Given the description of an element on the screen output the (x, y) to click on. 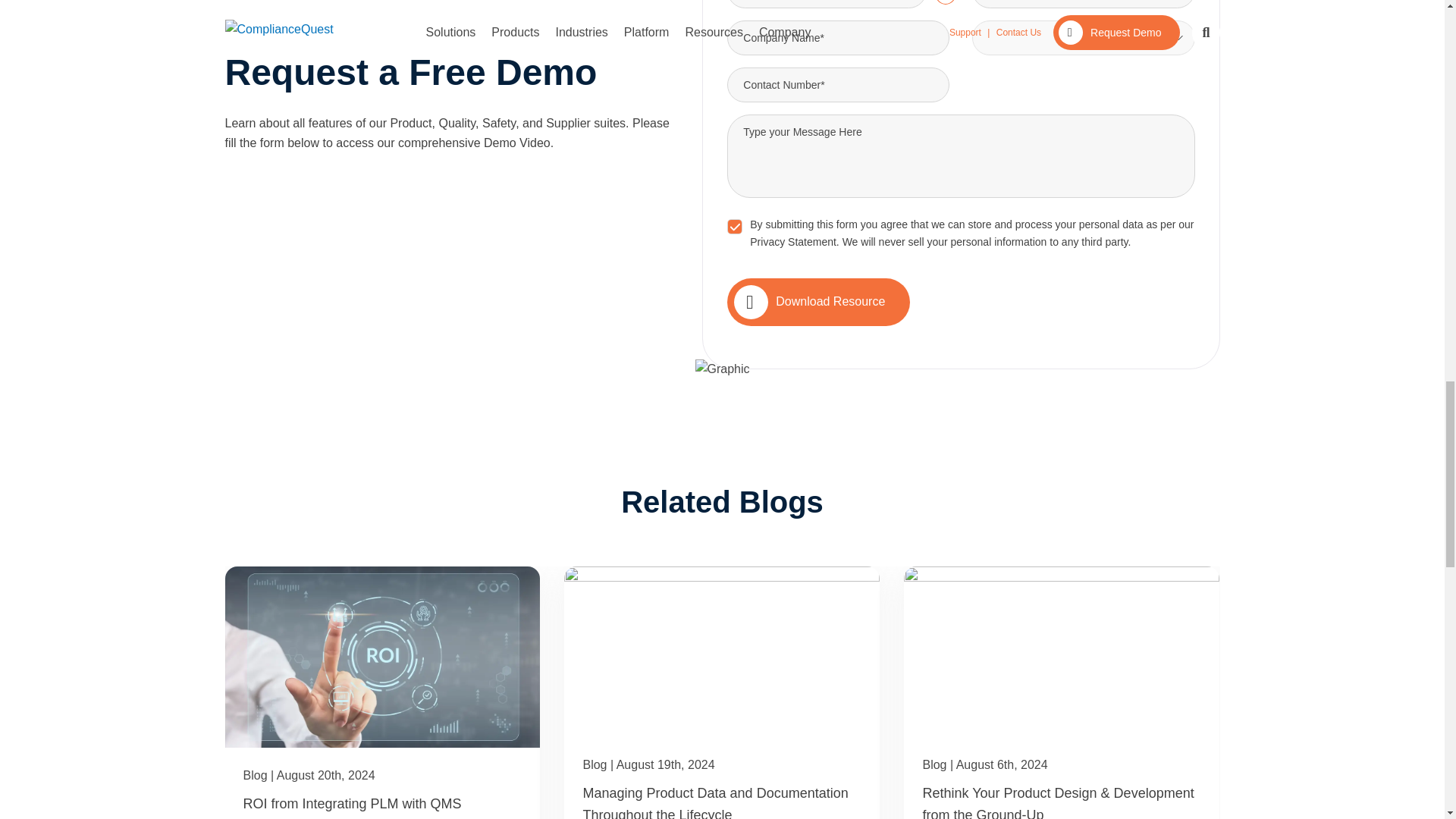
on (734, 226)
Edit details (945, 2)
Download Resource (830, 301)
